Given the description of an element on the screen output the (x, y) to click on. 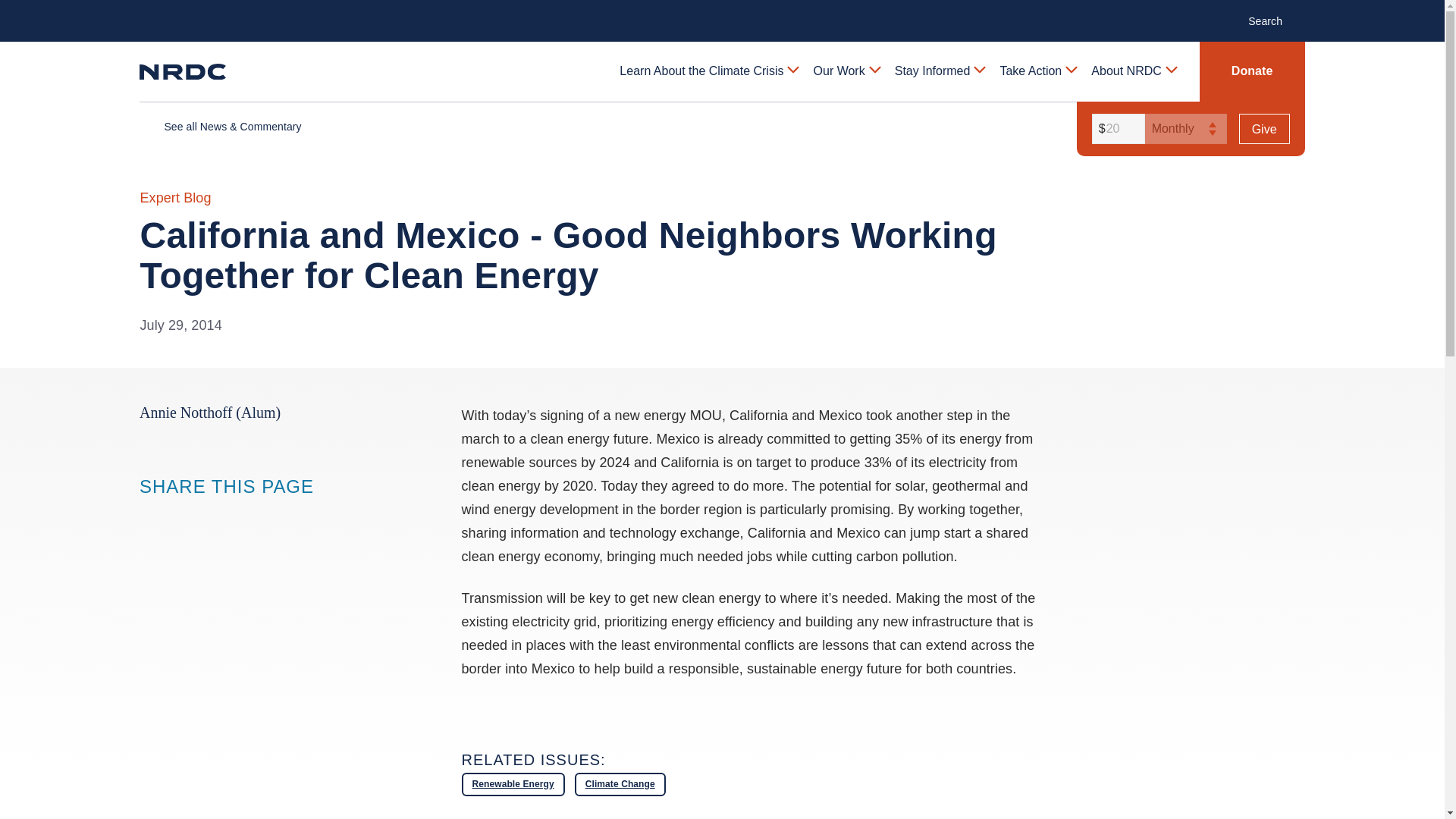
Share this page block (210, 515)
Share this page block (149, 515)
Learn About the Climate Crisis (707, 71)
Skip to main content (721, 12)
Stay Informed (939, 71)
20 (1116, 128)
Our Work (846, 71)
Share this page block (180, 515)
Search (1272, 19)
